Given the description of an element on the screen output the (x, y) to click on. 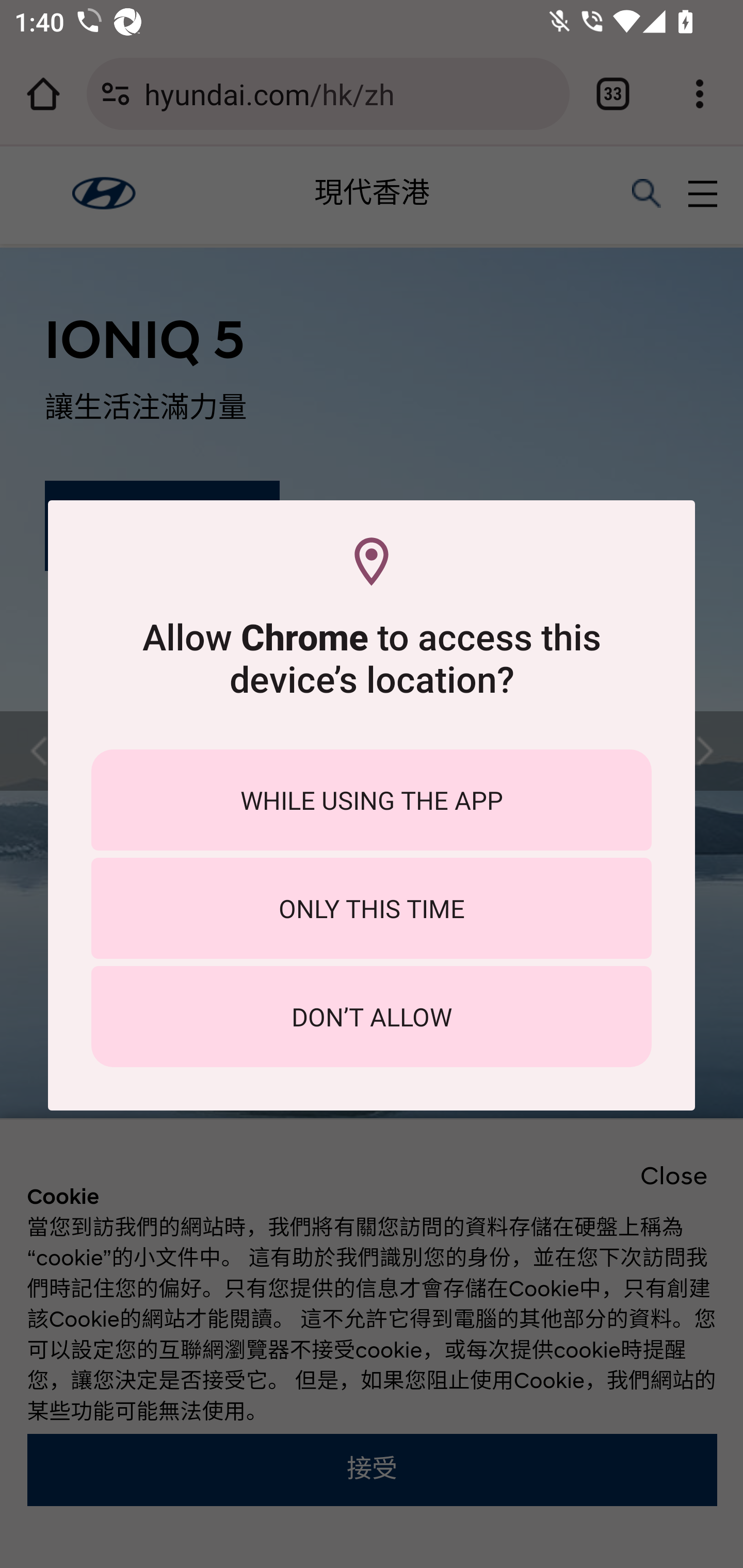
WHILE USING THE APP (371, 799)
ONLY THIS TIME (371, 908)
DON’T ALLOW (371, 1016)
